Given the description of an element on the screen output the (x, y) to click on. 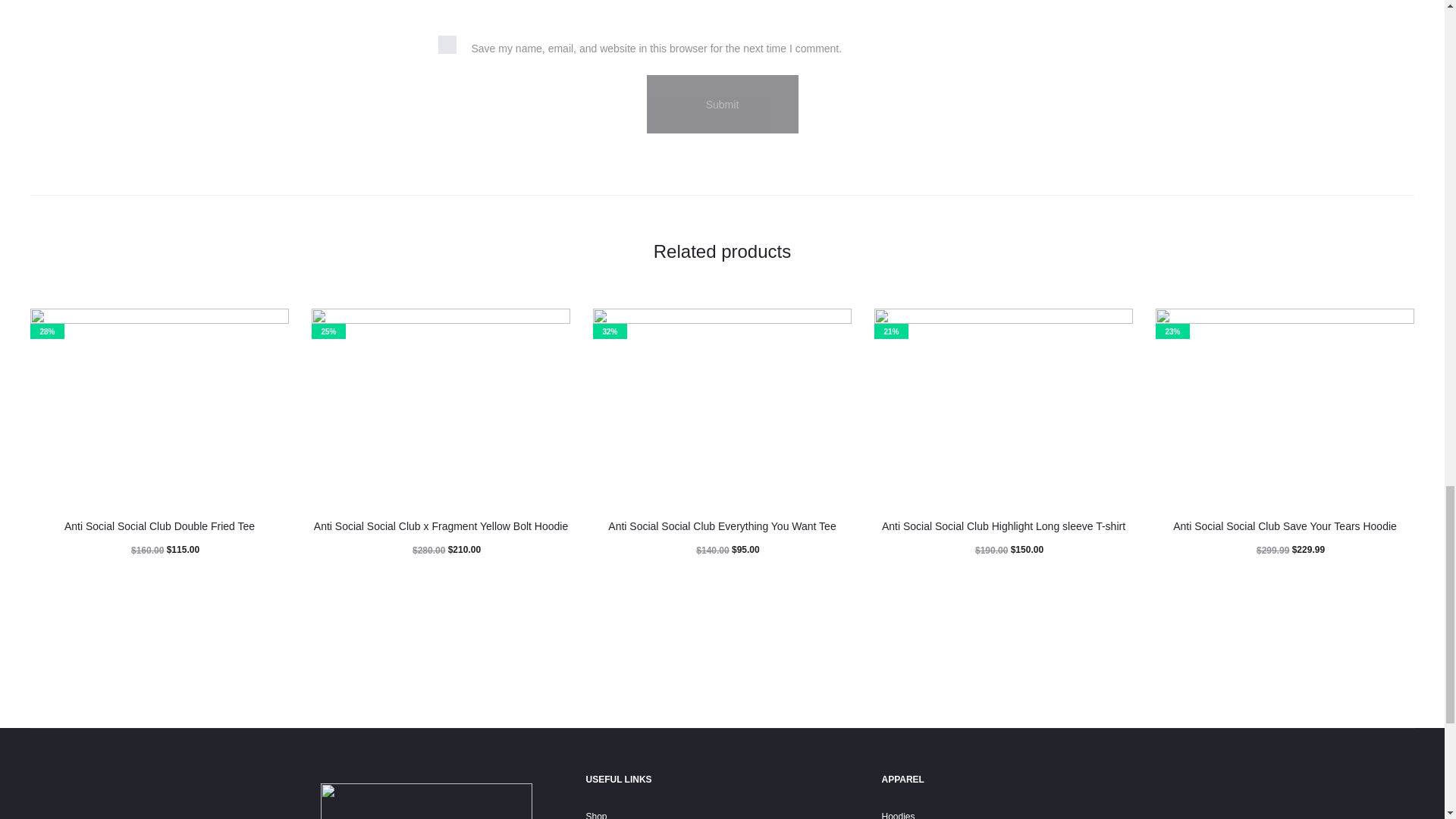
Submit (721, 104)
